Given the description of an element on the screen output the (x, y) to click on. 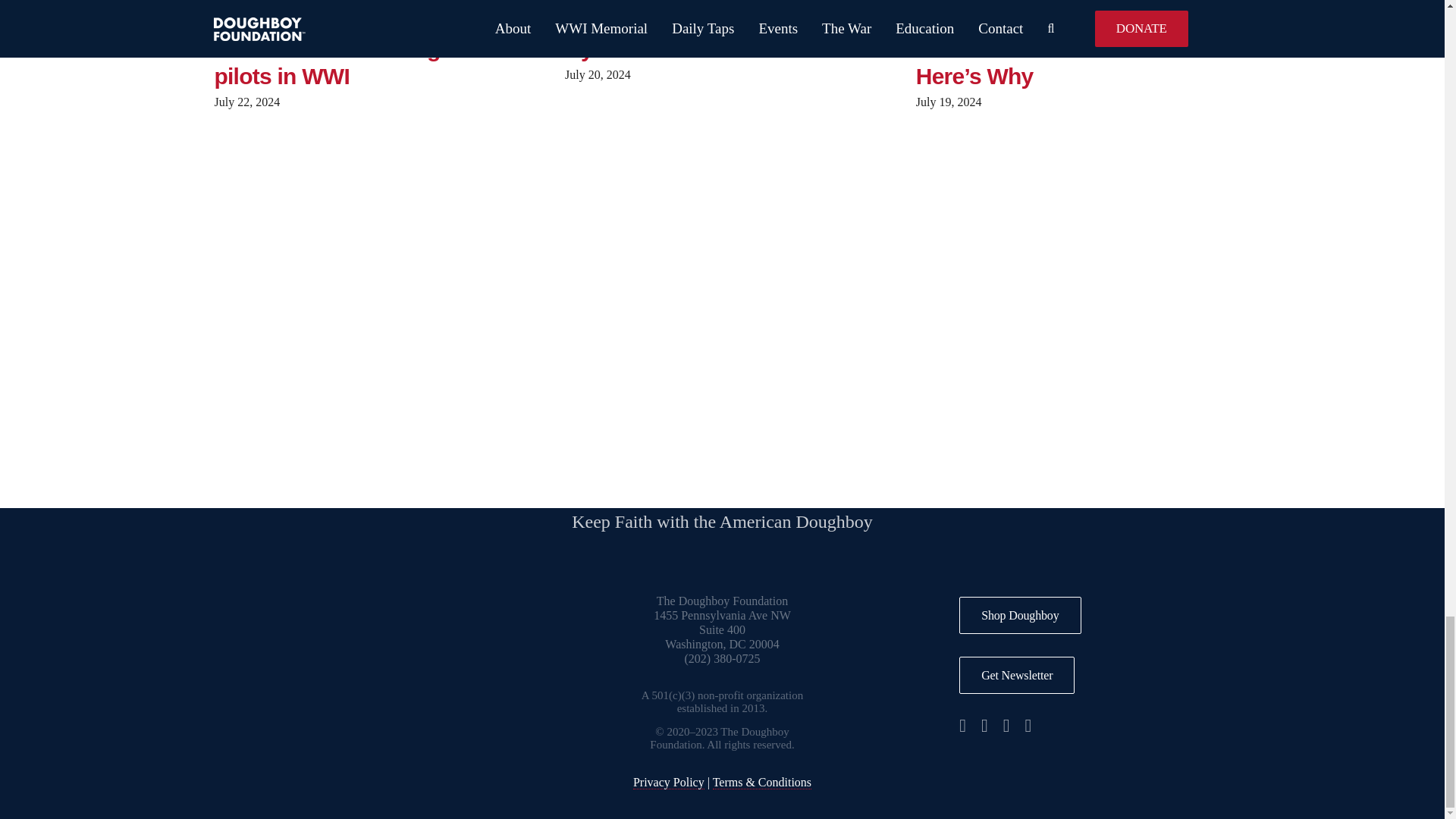
A Piece of WWI History Rests By a Resort Pool in Dallas (715, 34)
